Given the description of an element on the screen output the (x, y) to click on. 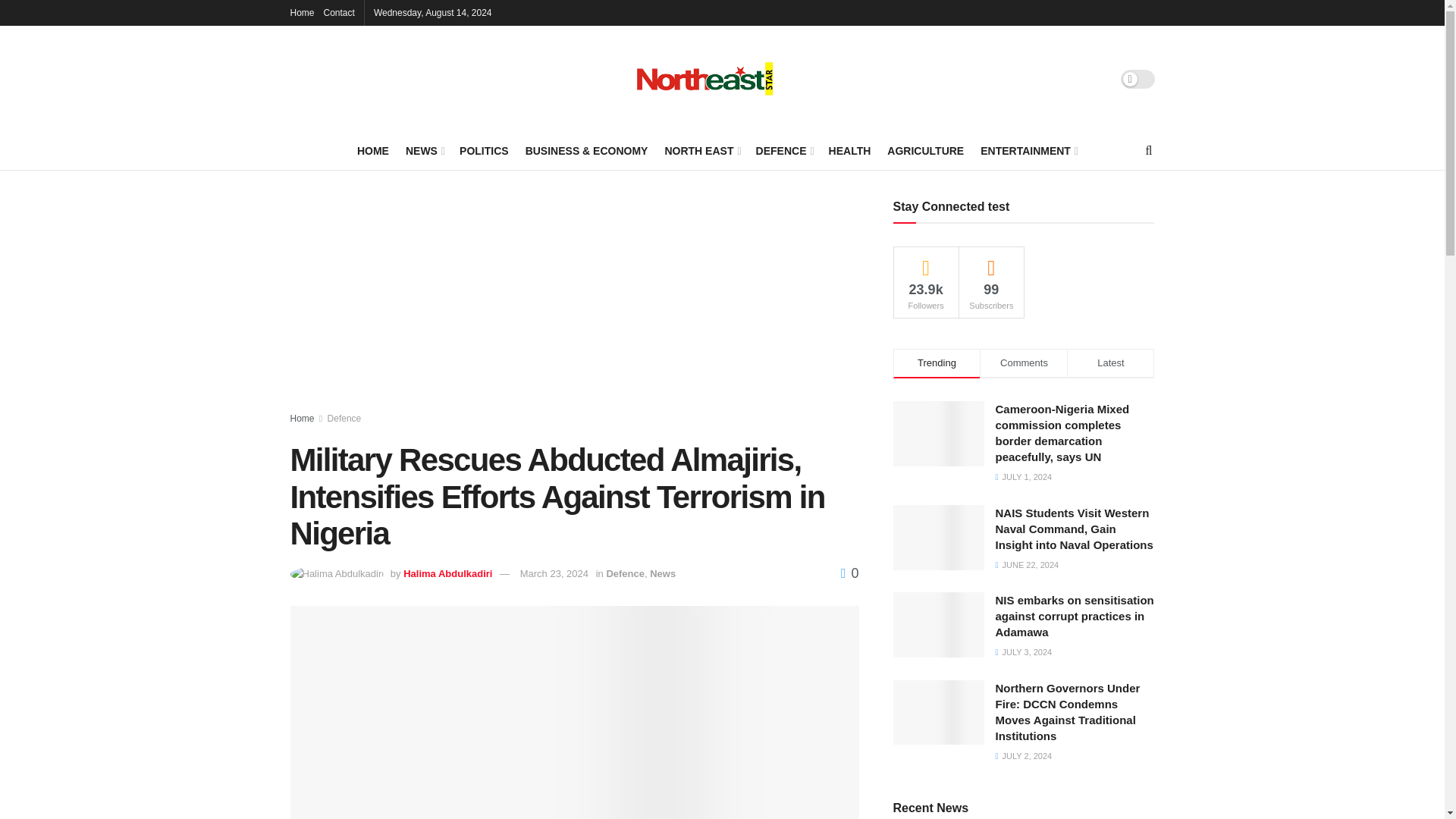
NEWS (424, 150)
NORTH EAST (700, 150)
Contact (339, 12)
HOME (372, 150)
Advertisement (574, 305)
Home (301, 12)
POLITICS (484, 150)
